Given the description of an element on the screen output the (x, y) to click on. 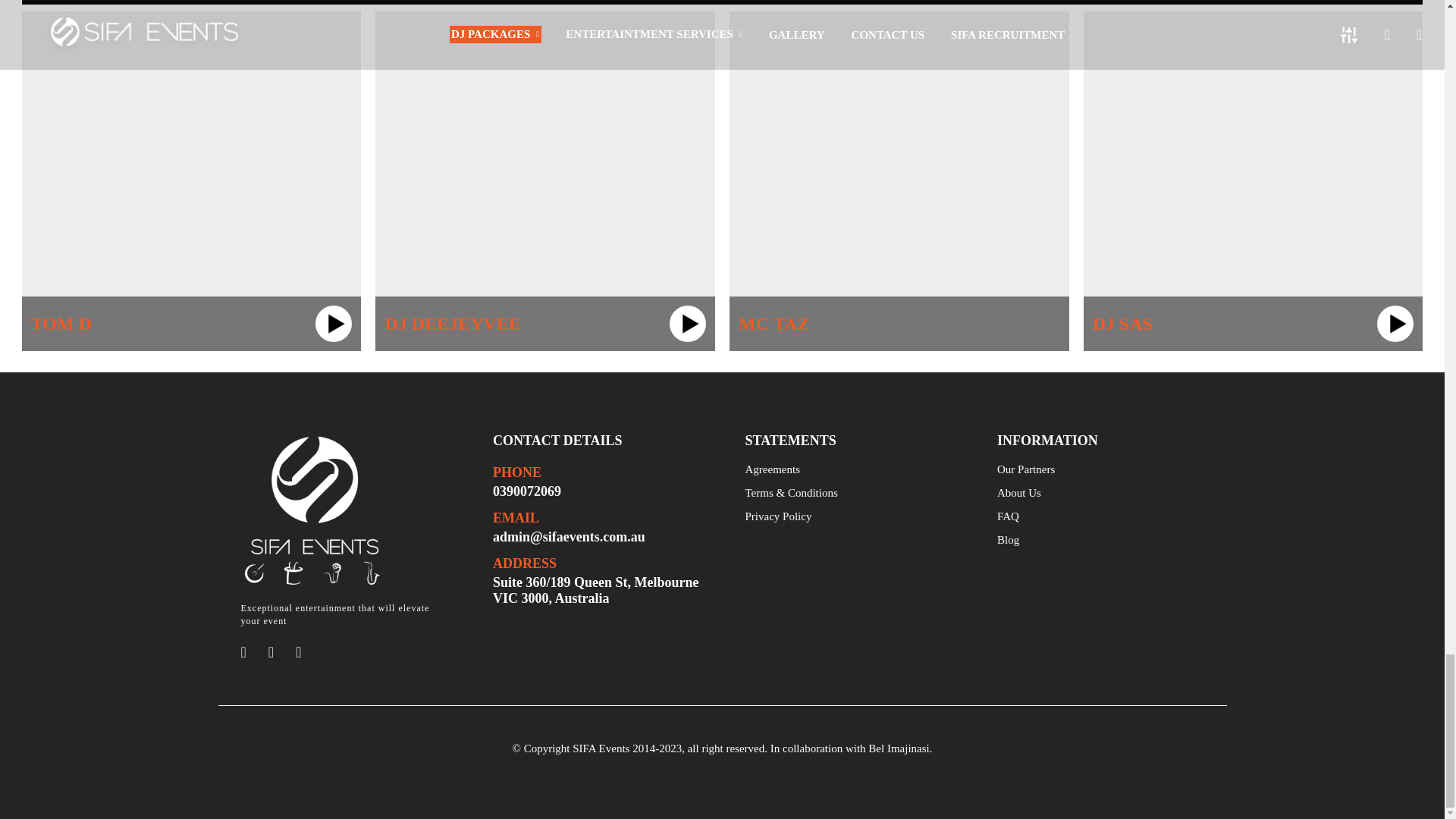
TOM D (191, 180)
DJ DEEJEYVEE (544, 180)
DJ SAS (1252, 180)
DJ SAS  (1252, 180)
MC TAZ  (898, 180)
TOM D  (191, 180)
DJ DEEJEYVEE  (544, 180)
MC TAZ (898, 180)
